Given the description of an element on the screen output the (x, y) to click on. 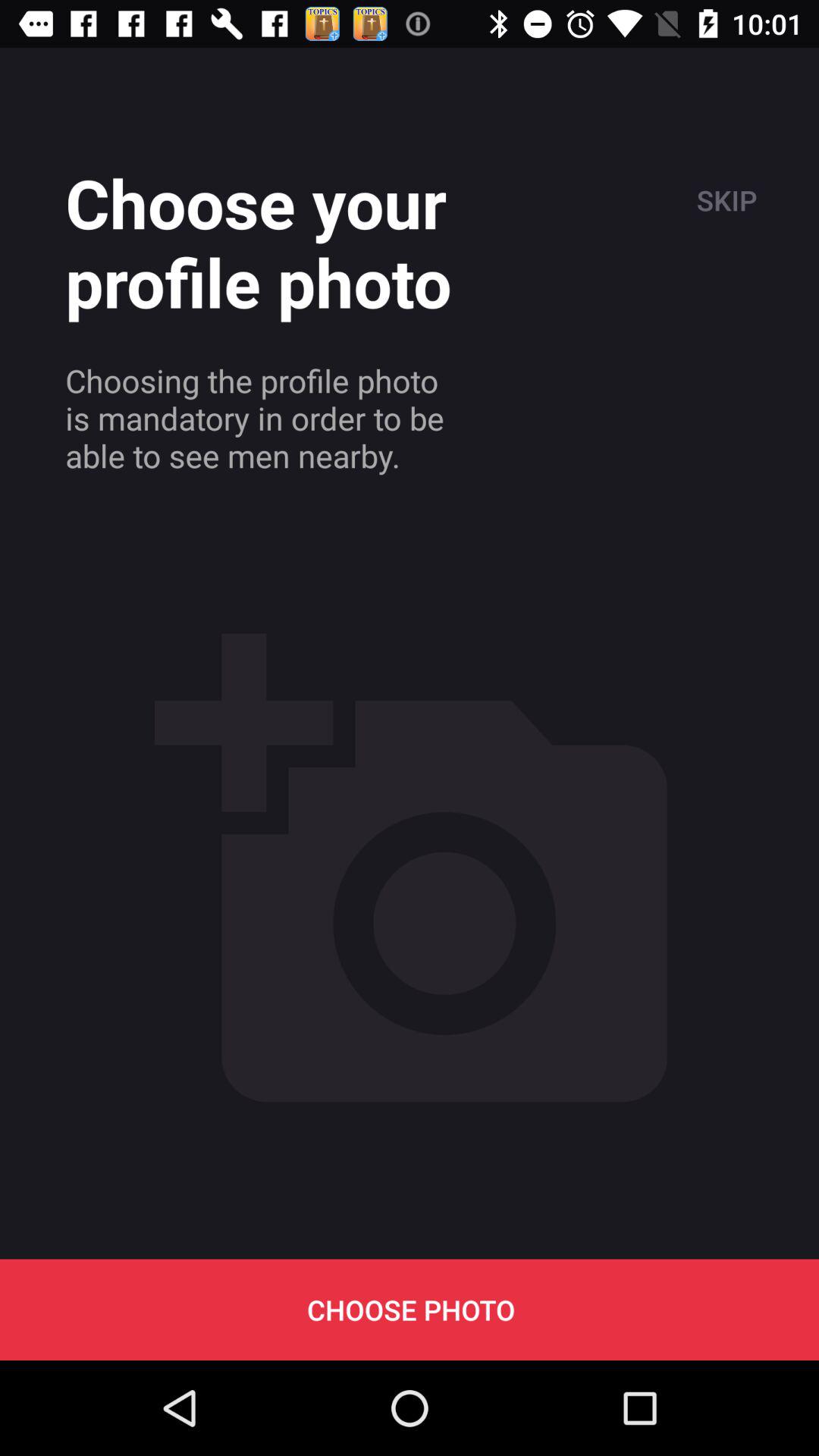
tap the item next to the choose your profile icon (725, 199)
